Given the description of an element on the screen output the (x, y) to click on. 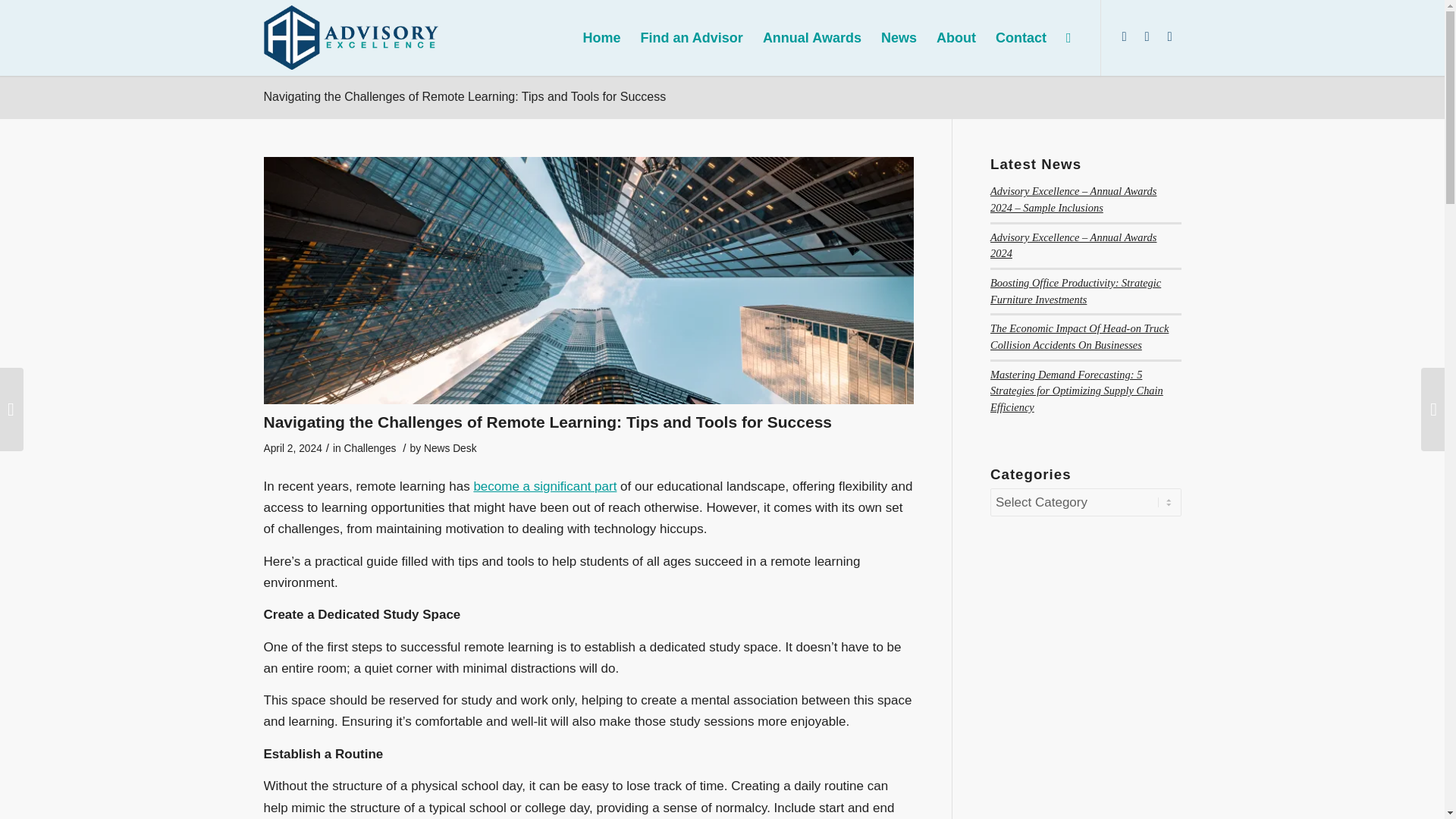
Facebook (1169, 36)
Advisory-Excellence-logo (351, 36)
become a significant part (544, 486)
Find an Advisor (691, 38)
Twitter (1146, 36)
Contact (1021, 38)
LinkedIn (1124, 36)
Annual Awards (811, 38)
